Given the description of an element on the screen output the (x, y) to click on. 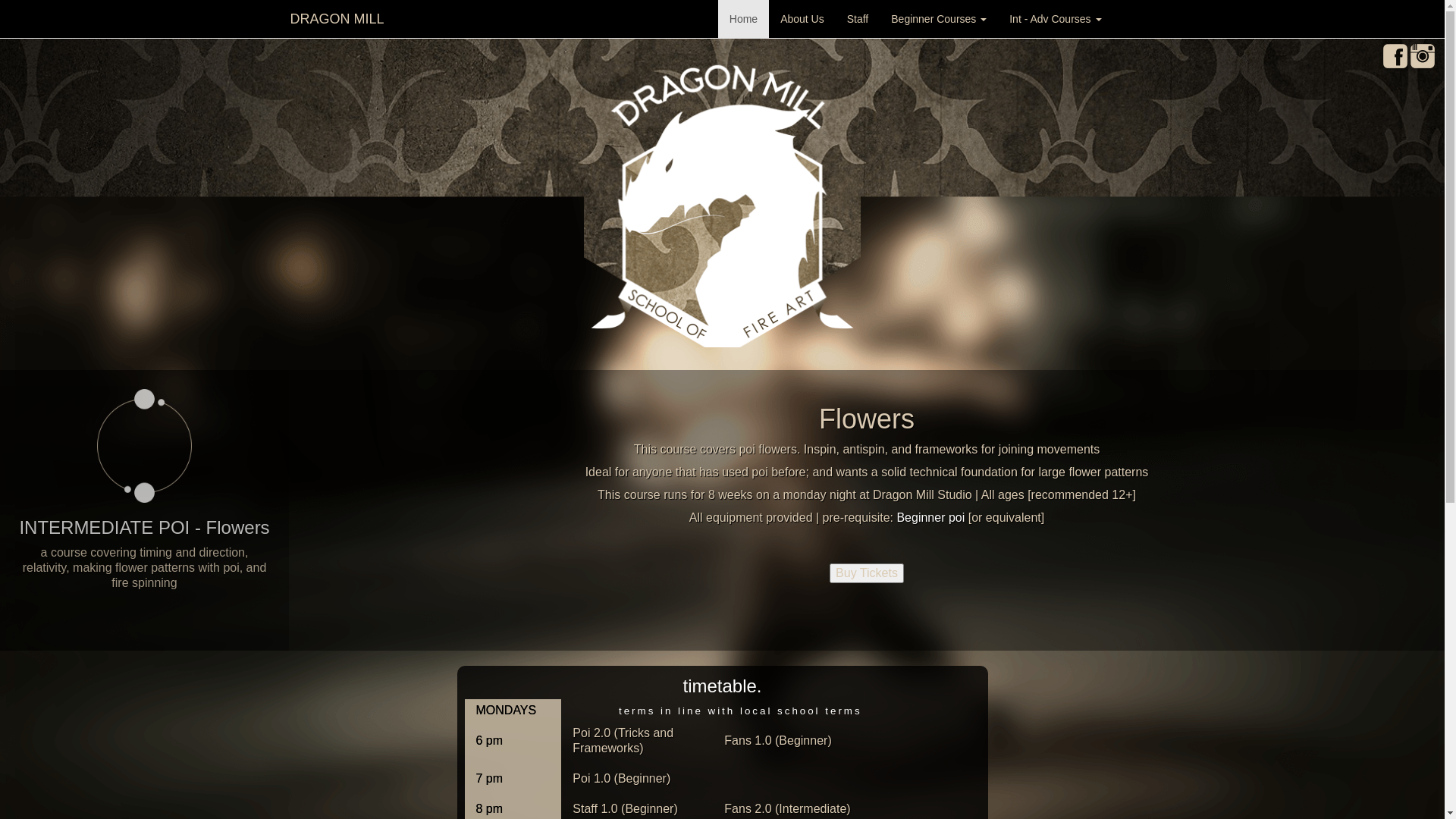
Home Element type: text (743, 18)
Buy Tickets Element type: text (866, 573)
Fans 2.0 (Intermediate) Element type: text (787, 808)
DRAGON MILL Element type: text (337, 18)
Poi 1.0 (Beginner) Element type: text (636, 778)
Staff 1.0 (Beginner) Element type: text (636, 808)
Int - Adv Courses Element type: text (1054, 18)
Fans 1.0 (Beginner) Element type: text (787, 740)
Staff Element type: text (857, 18)
Beginner Courses Element type: text (938, 18)
About Us Element type: text (801, 18)
Beginner poi Element type: text (930, 517)
Poi 2.0 (Tricks and Frameworks) Element type: text (636, 740)
